Given the description of an element on the screen output the (x, y) to click on. 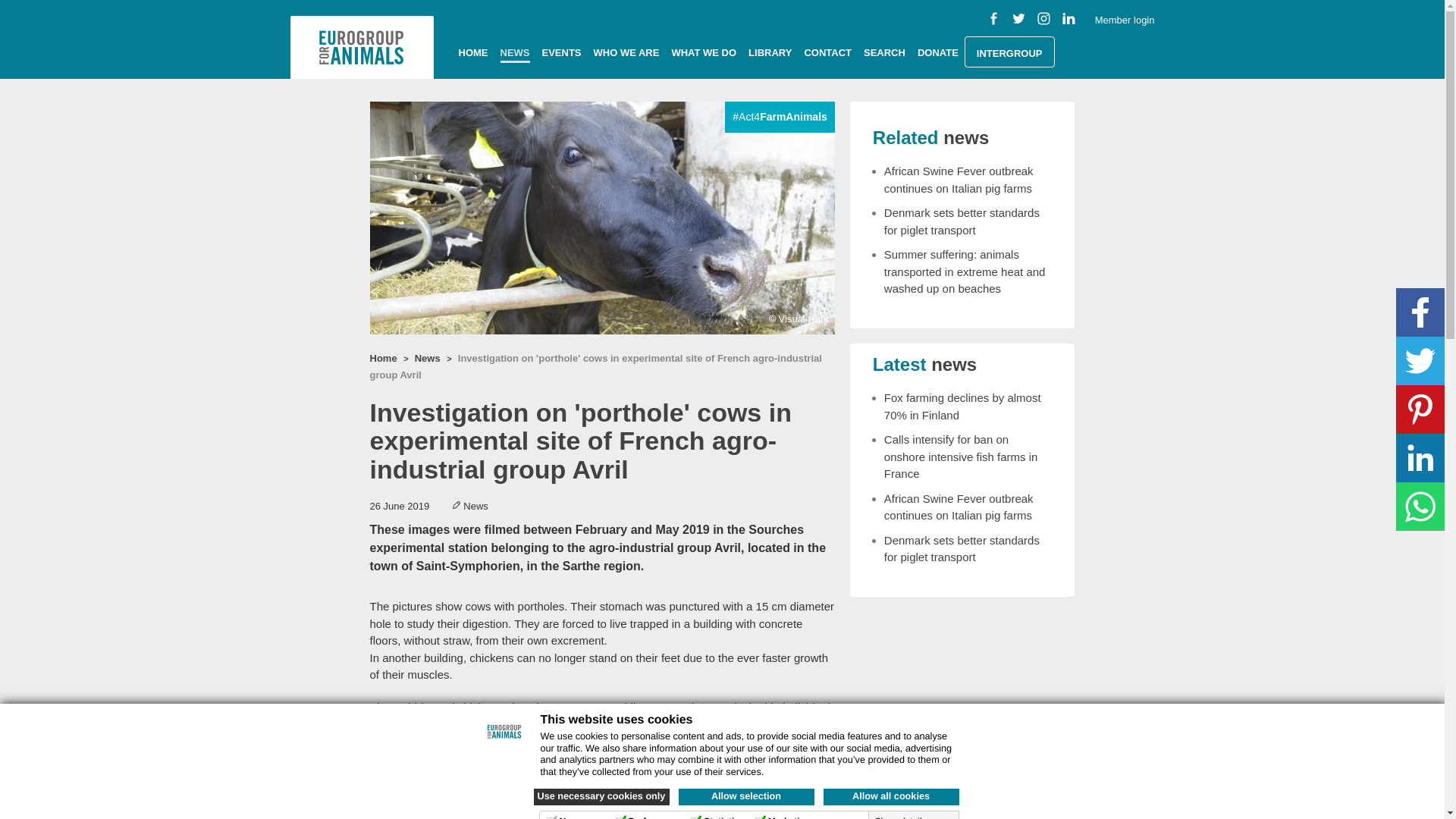
Allow all cookies (891, 796)
Allow selection (745, 796)
Show details (908, 816)
Use necessary cookies only (601, 796)
